Given the description of an element on the screen output the (x, y) to click on. 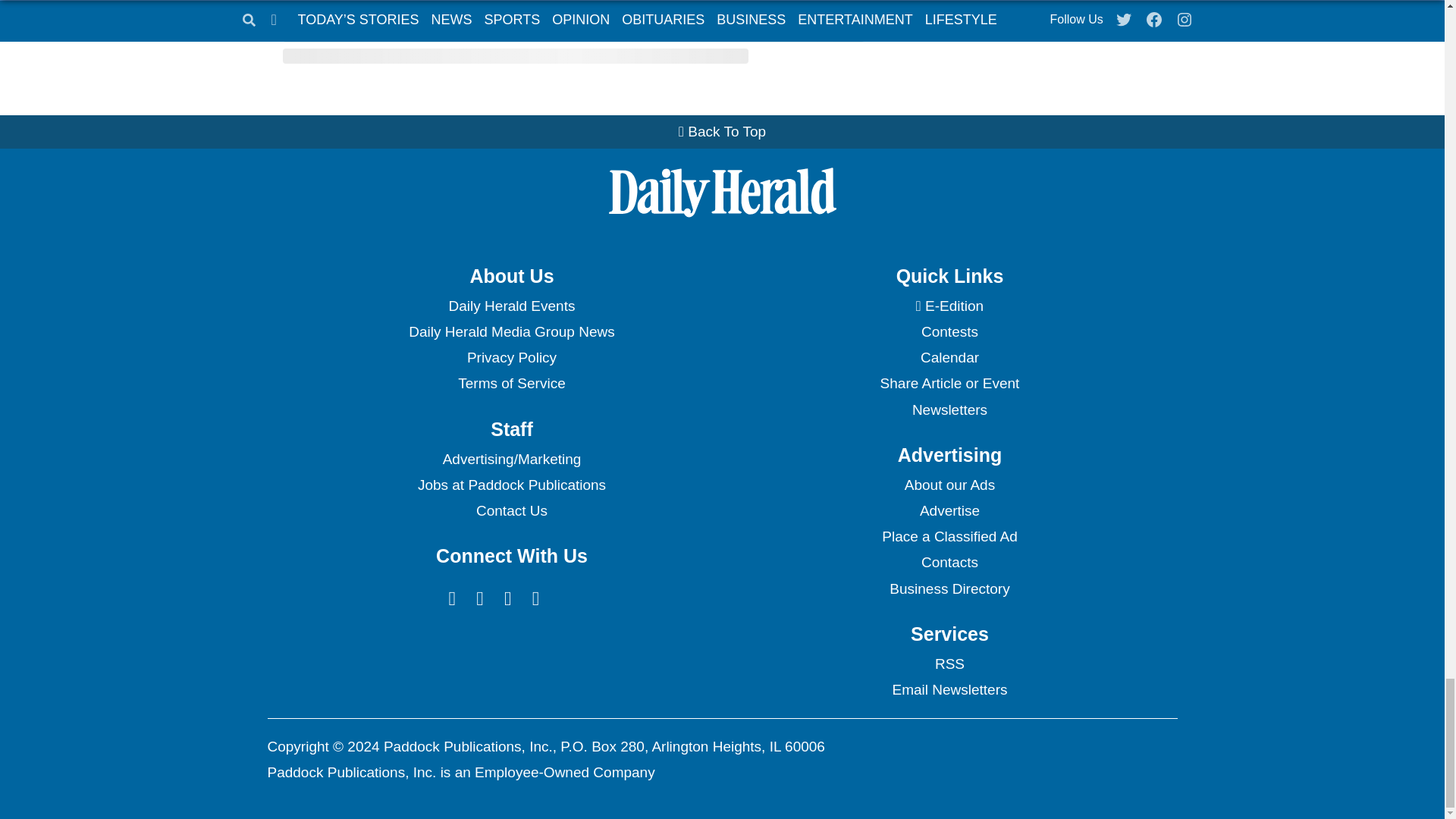
Contact Us (511, 510)
Privacy Policy (511, 357)
Daily Herald Events (511, 306)
Daily Herald Digital Newspaper (949, 306)
Jobs at Paddock Publications (511, 484)
Terms of Service (511, 383)
Daily Herald Media Group News (511, 331)
